Given the description of an element on the screen output the (x, y) to click on. 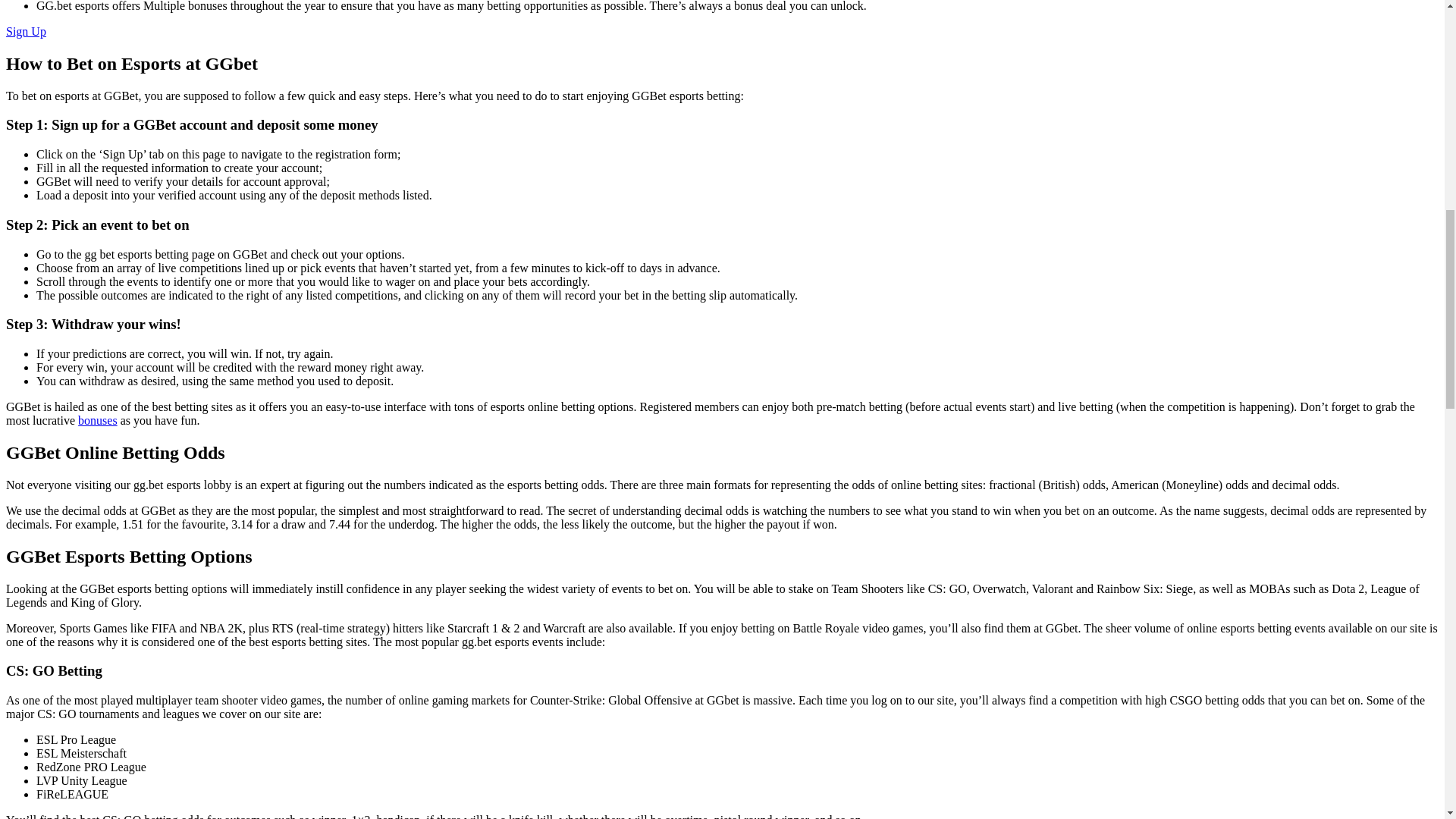
Sign Up (25, 31)
bonuses (97, 420)
